Given the description of an element on the screen output the (x, y) to click on. 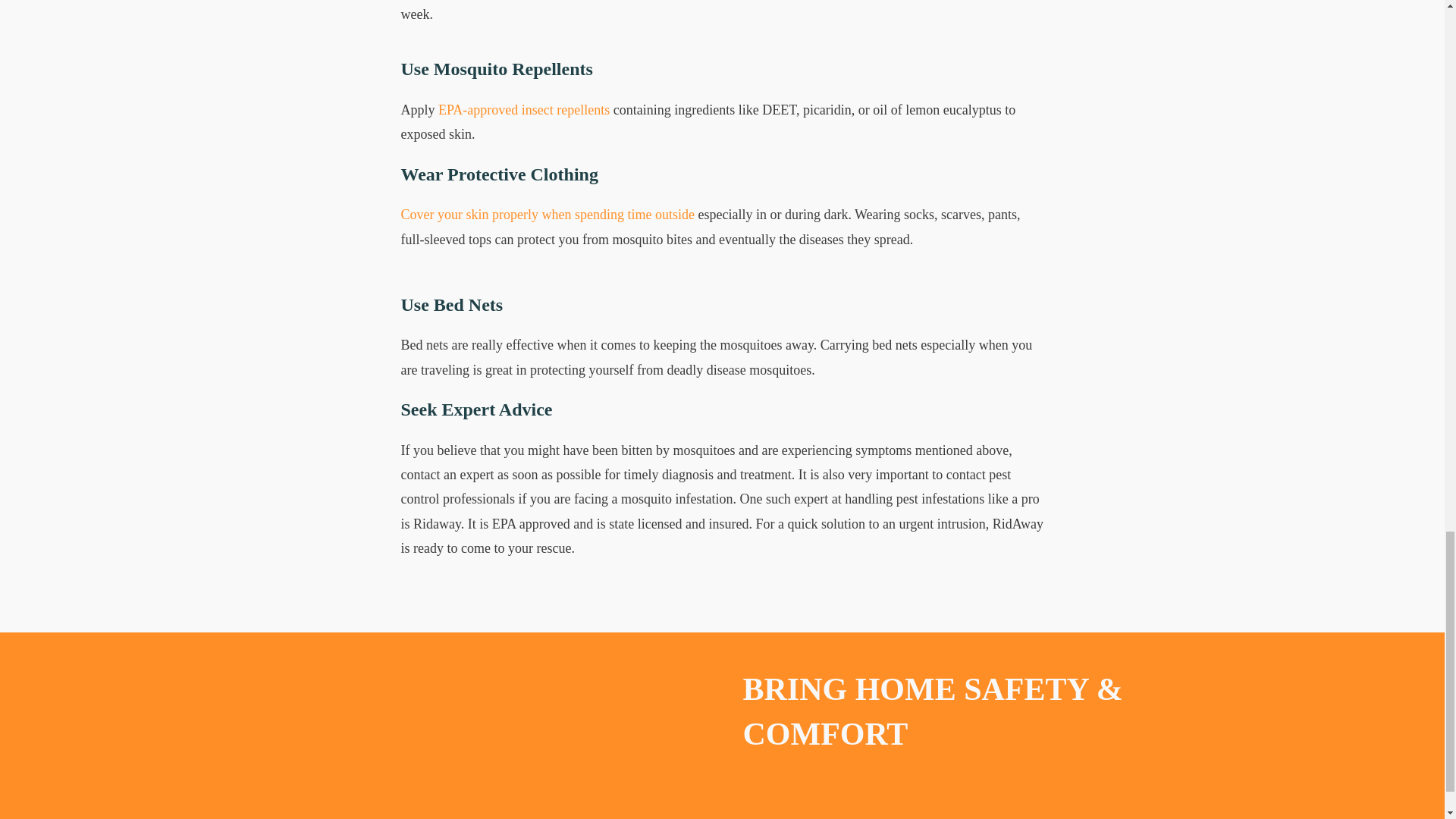
EPA-approved insect repellents (524, 109)
Cover your skin properly when spending time outside (547, 214)
